Given the description of an element on the screen output the (x, y) to click on. 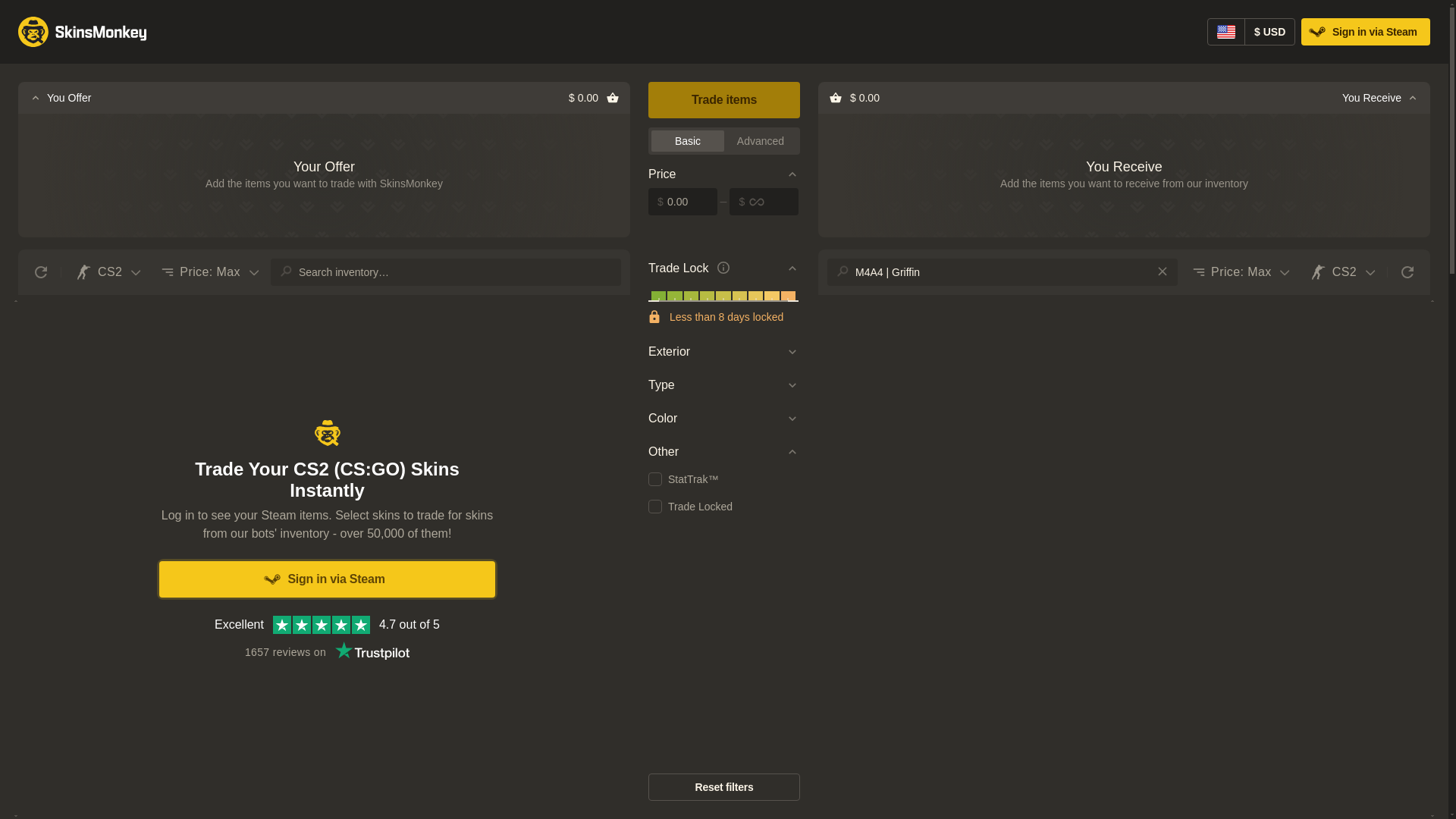
0.00 (682, 201)
